Given the description of an element on the screen output the (x, y) to click on. 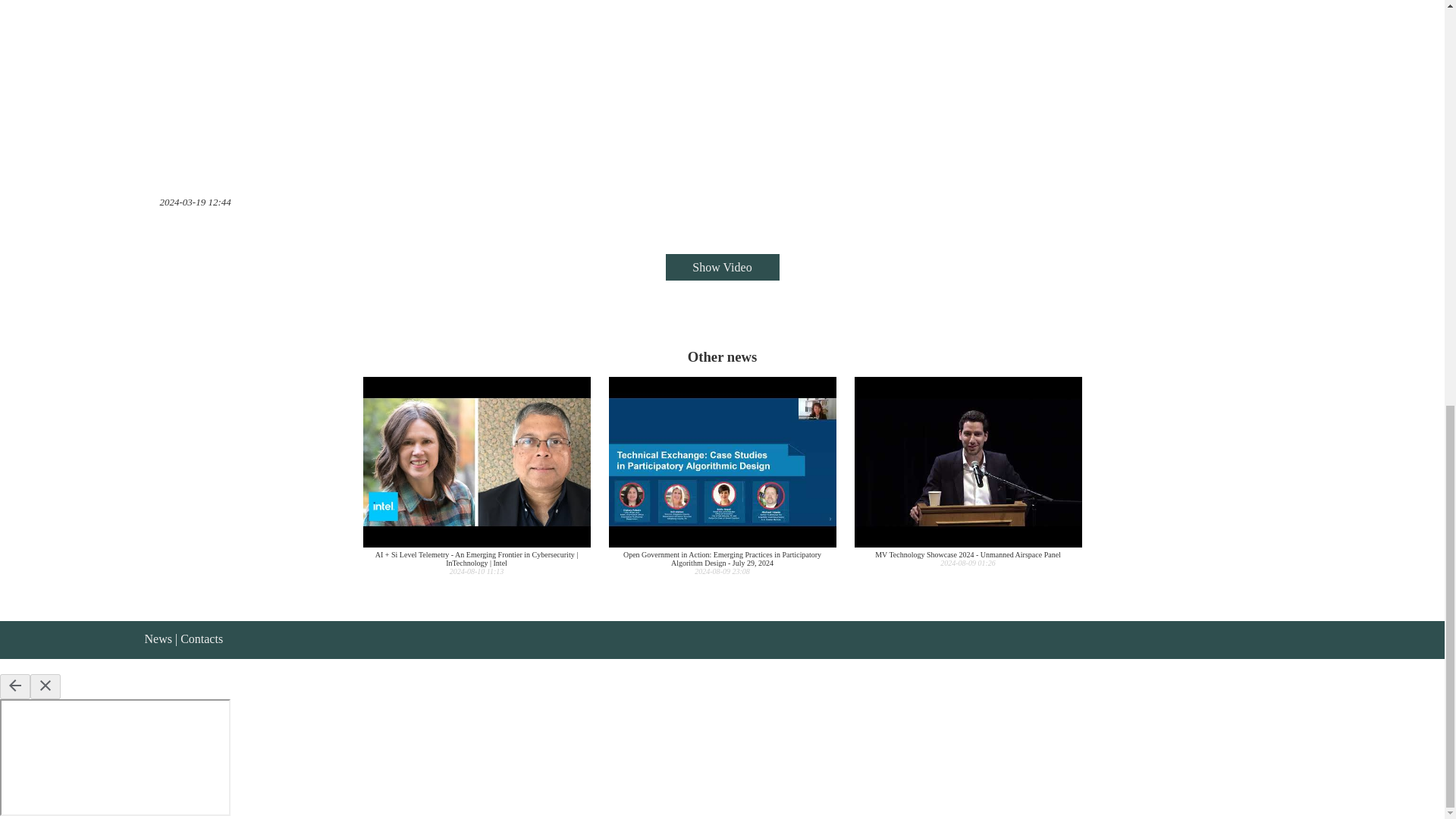
Contacts (201, 638)
News (157, 638)
MV Technology Showcase 2024 - Unmanned Airspace Panel (967, 471)
